Given the description of an element on the screen output the (x, y) to click on. 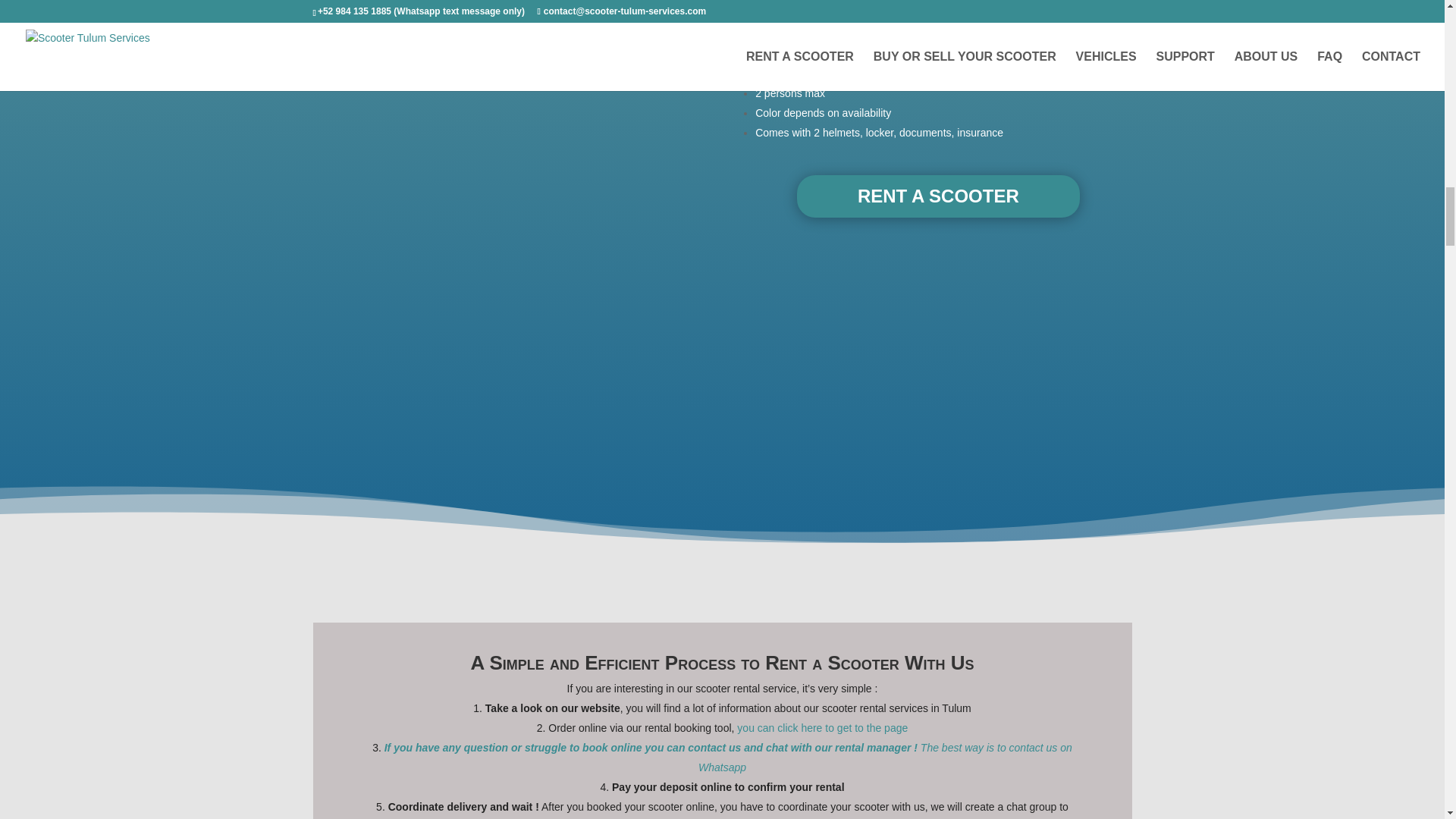
you can click here to get to the page (821, 727)
RENT A SCOOTER (938, 196)
